Given the description of an element on the screen output the (x, y) to click on. 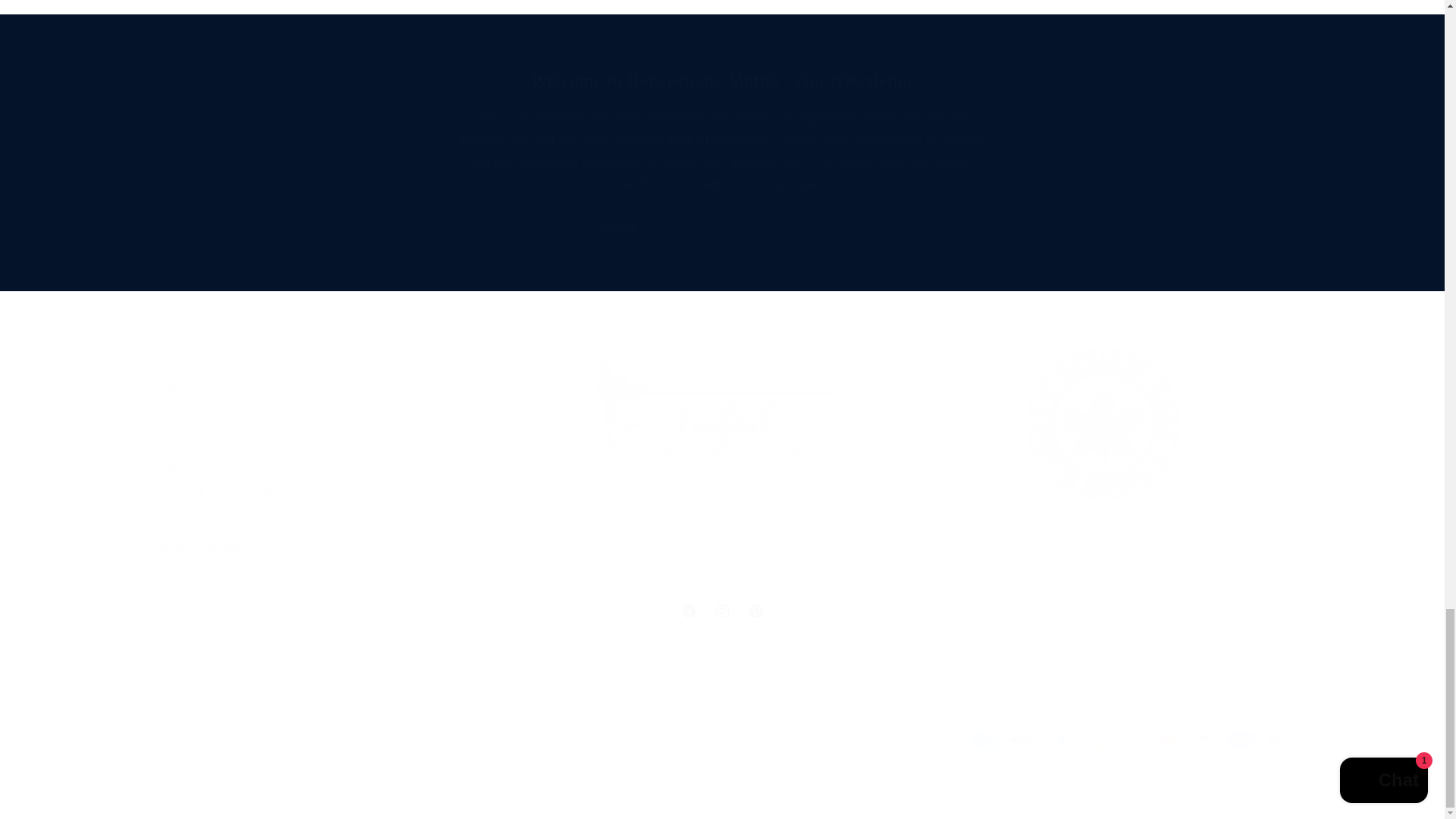
Welcome to Between the Motifs - Our Newsletter (721, 611)
Email (721, 80)
